Given the description of an element on the screen output the (x, y) to click on. 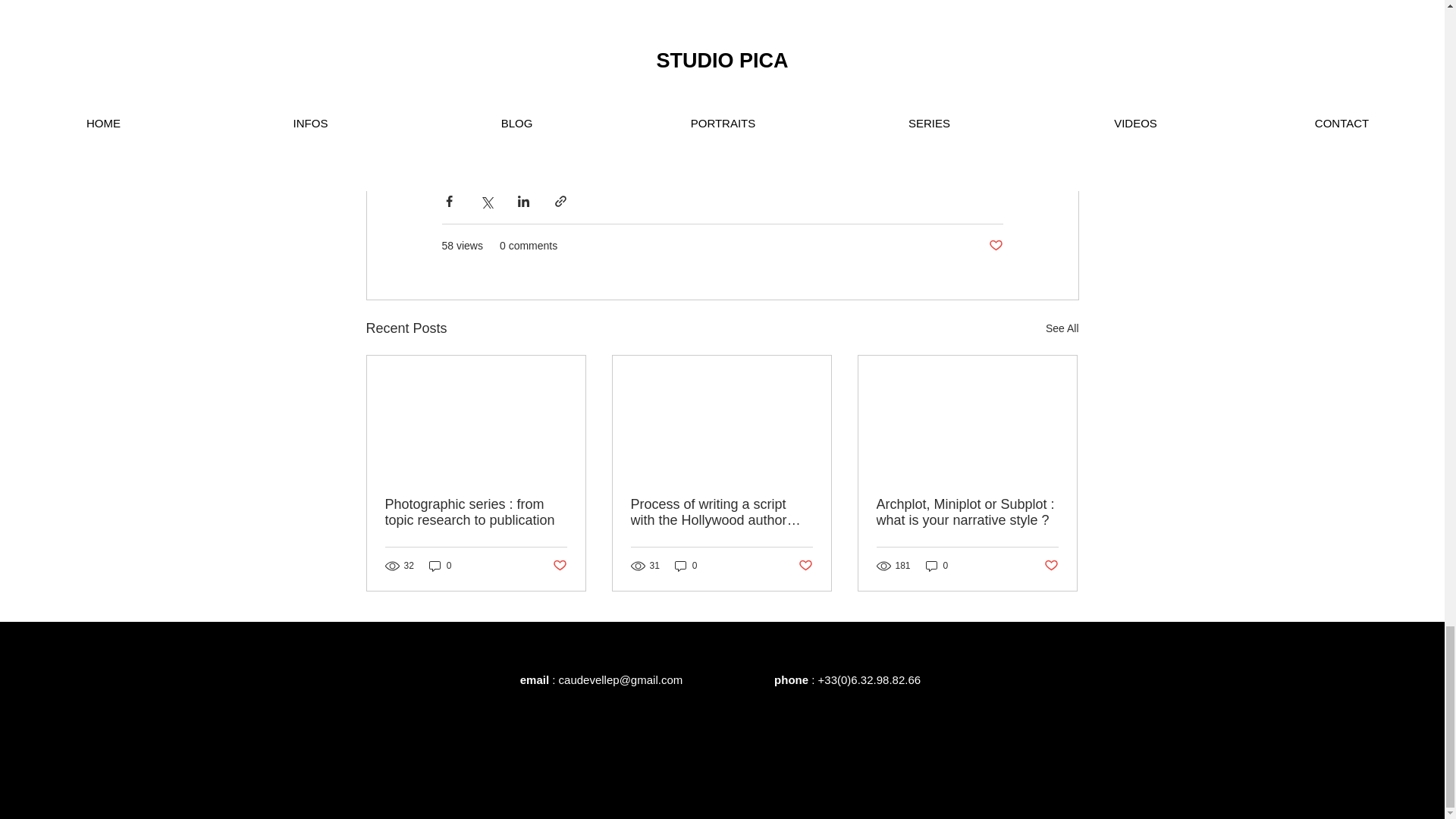
0 (440, 564)
Photographic series : from topic research to publication (476, 512)
0 (685, 564)
Post not marked as liked (995, 245)
Post not marked as liked (558, 565)
See All (1061, 328)
